Given the description of an element on the screen output the (x, y) to click on. 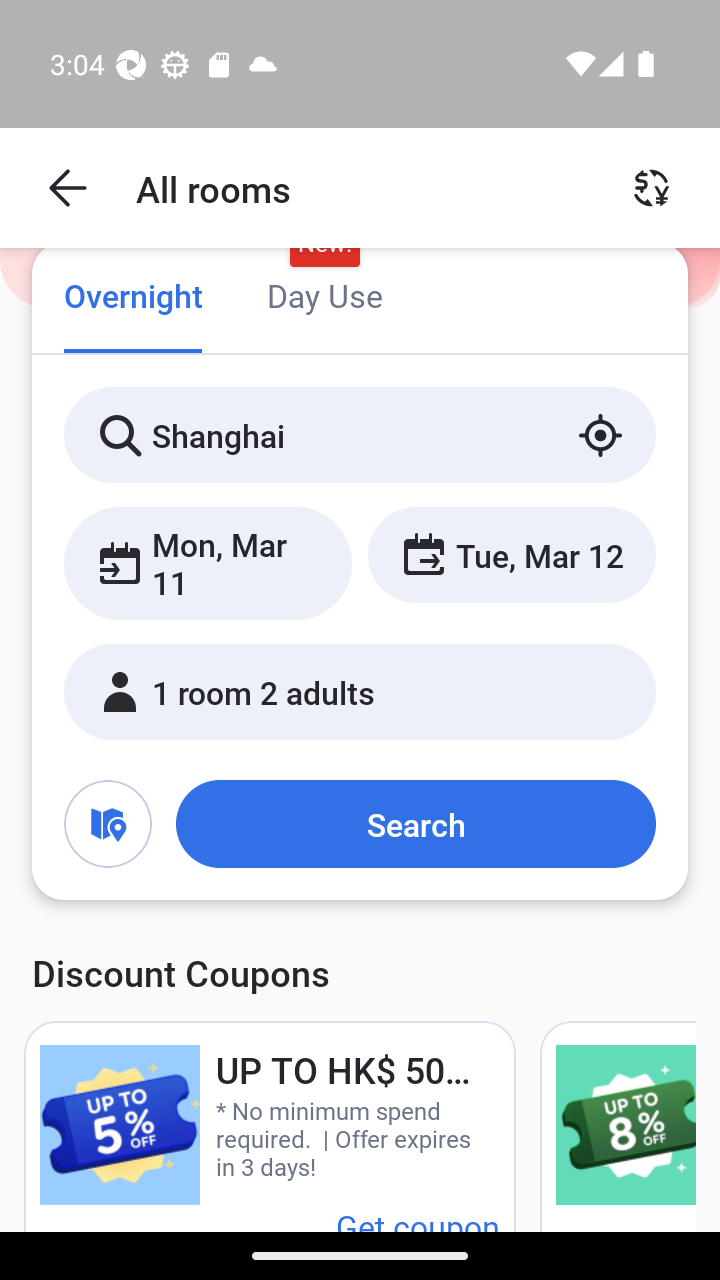
Day Use (324, 298)
Shanghai (359, 434)
Mon, Mar 11 (208, 562)
Tue, Mar 12 (511, 554)
1 room 2 adults (359, 691)
Search (415, 823)
